Given the description of an element on the screen output the (x, y) to click on. 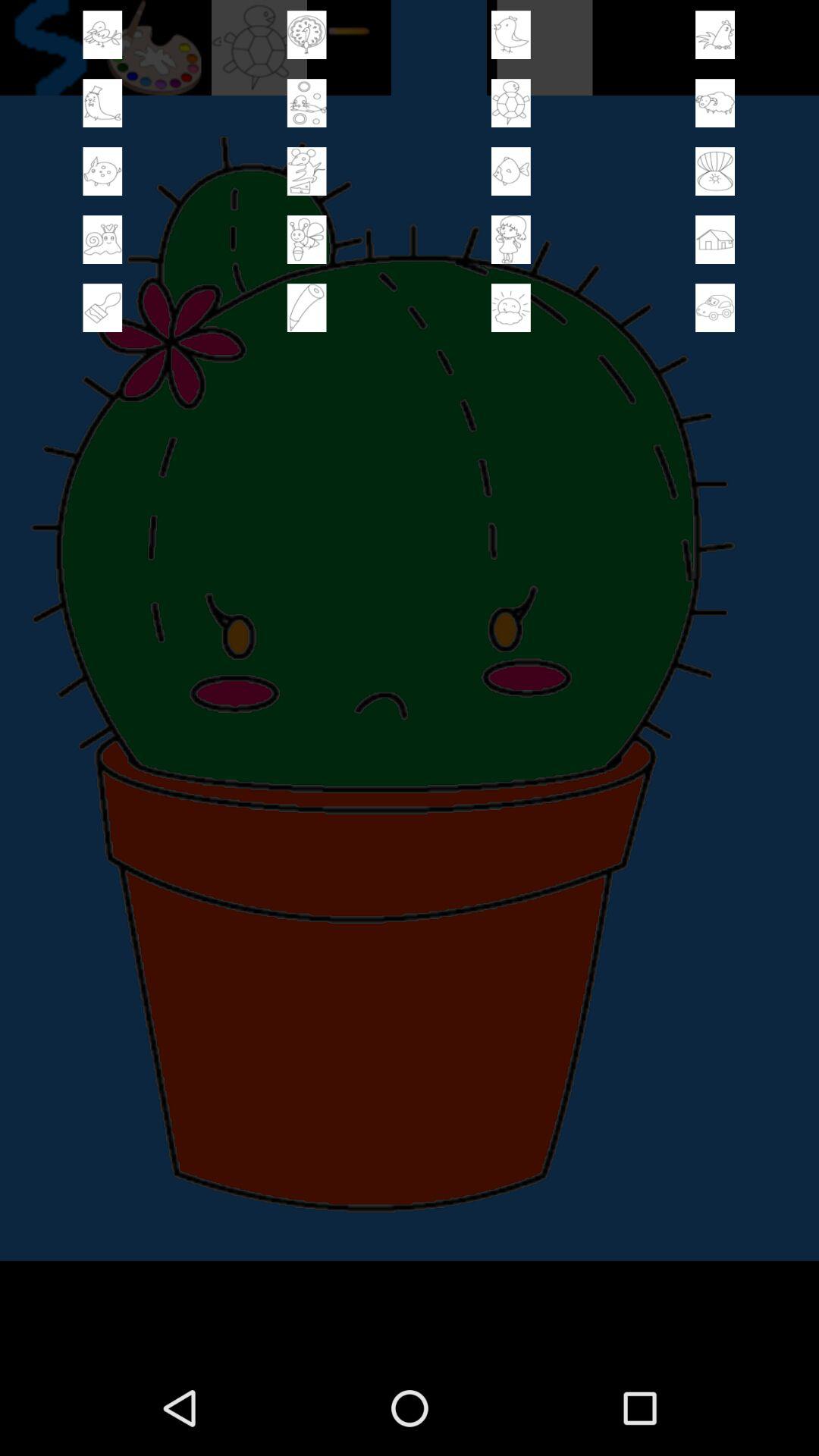
go to icon (715, 34)
